Given the description of an element on the screen output the (x, y) to click on. 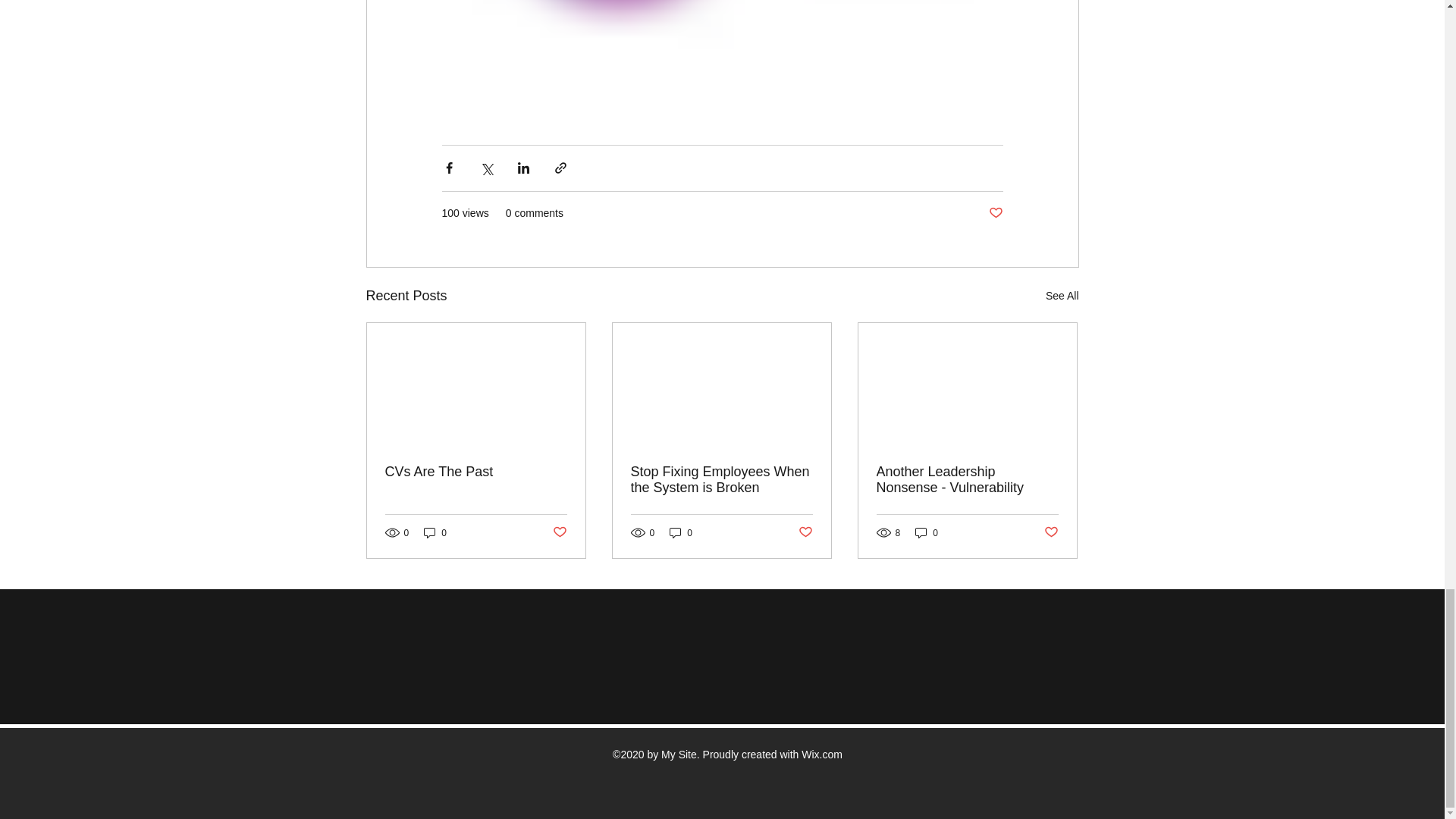
Post not marked as liked (995, 212)
Post not marked as liked (558, 532)
0 (435, 532)
See All (1061, 296)
CVs Are The Past (476, 471)
